Given the description of an element on the screen output the (x, y) to click on. 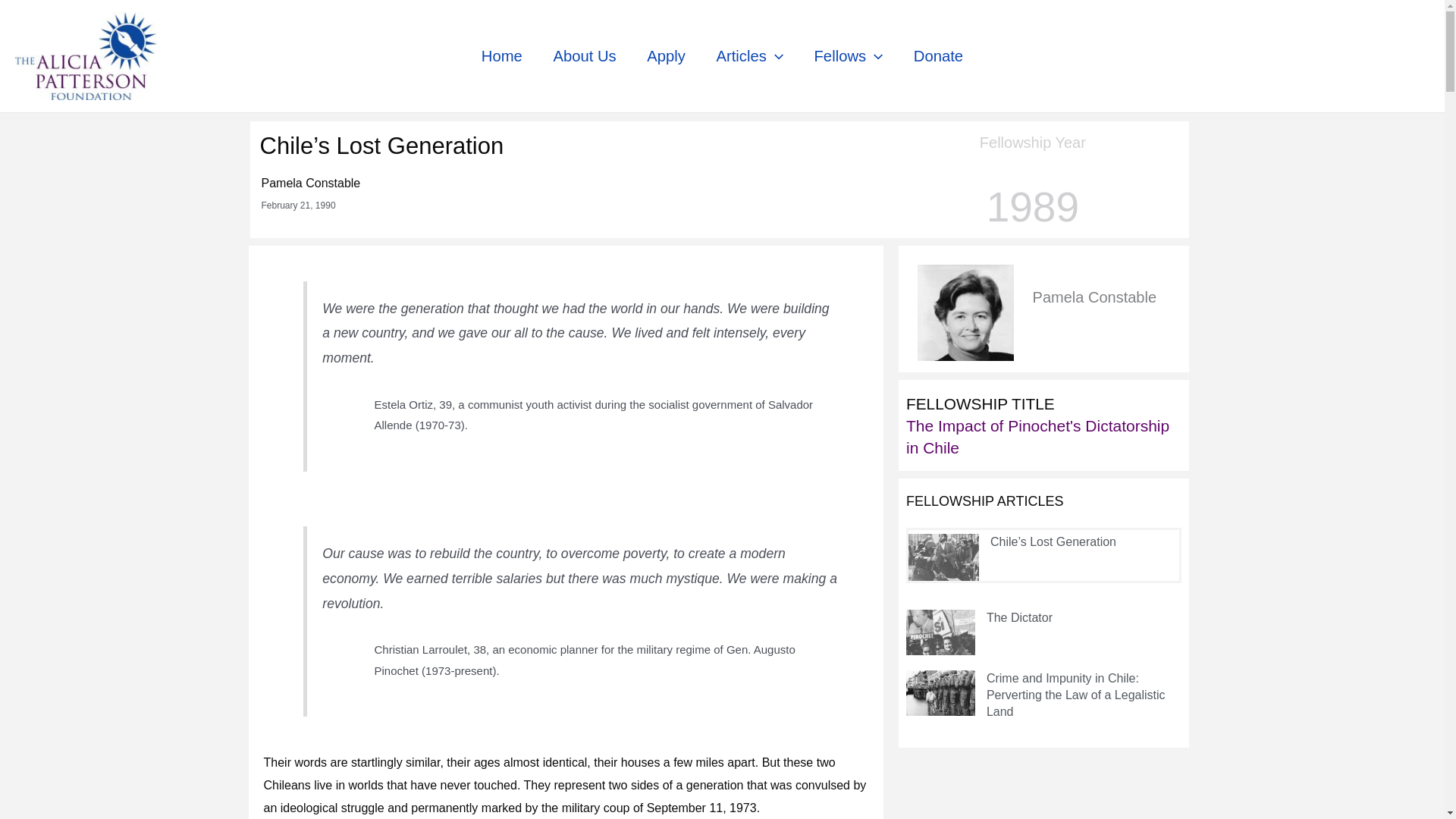
Articles (748, 55)
Apply (665, 55)
Donate (938, 55)
Fellows (847, 55)
About Us (584, 55)
Home (501, 55)
